Given the description of an element on the screen output the (x, y) to click on. 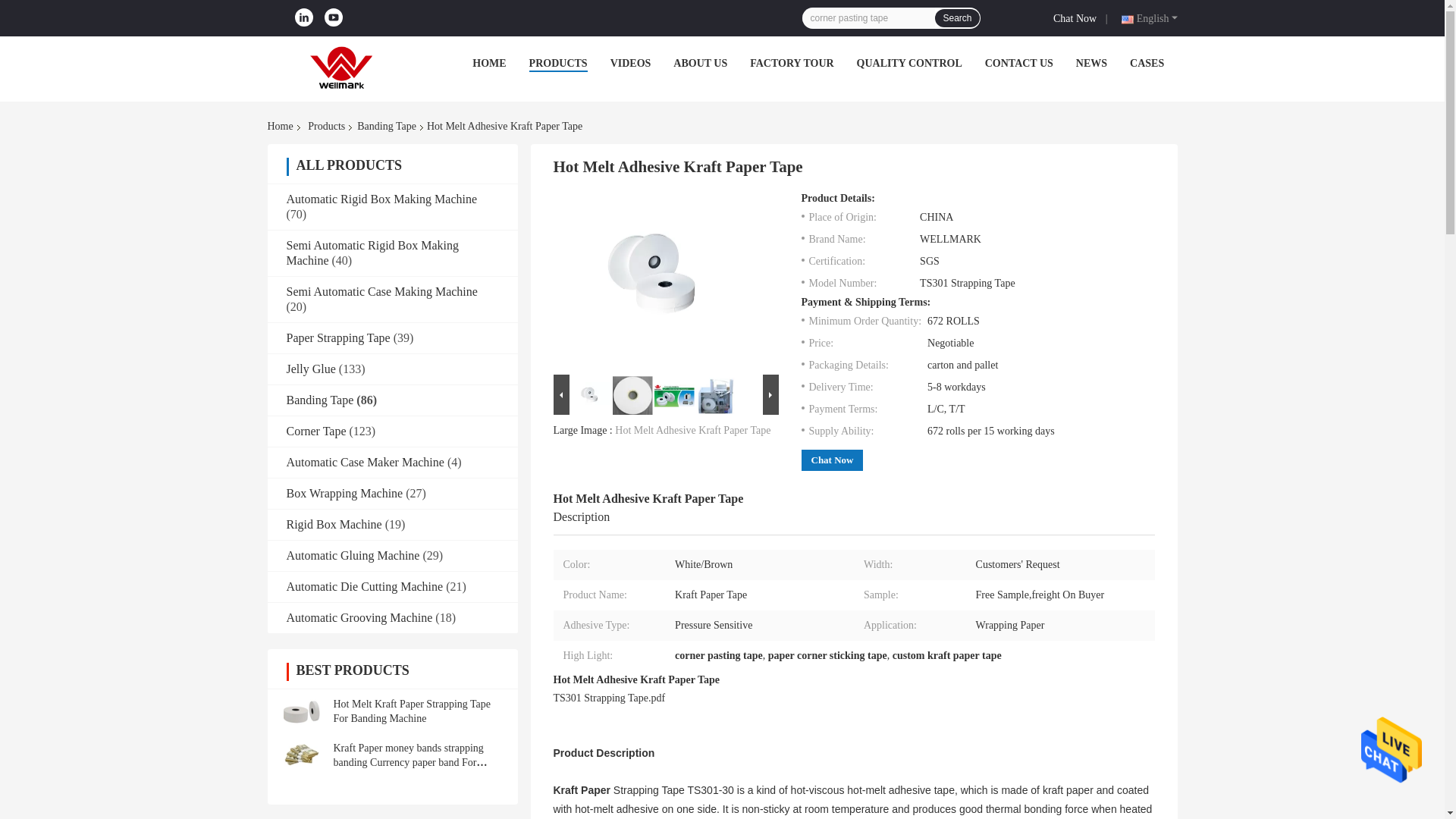
Chat Now (1077, 17)
Products (325, 126)
HOME (488, 62)
CASES (1146, 62)
Automatic Rigid Box Making Machine (381, 198)
FACTORY TOUR (790, 62)
NEWS (1090, 62)
Banding Tape (386, 126)
VIDEOS (630, 62)
Home (282, 126)
Search (956, 18)
WELLMARK PACKAGING CO.,LTD. YouTube (333, 17)
CONTACT US (1018, 62)
PRODUCTS (558, 62)
ABOUT US (699, 62)
